Given the description of an element on the screen output the (x, y) to click on. 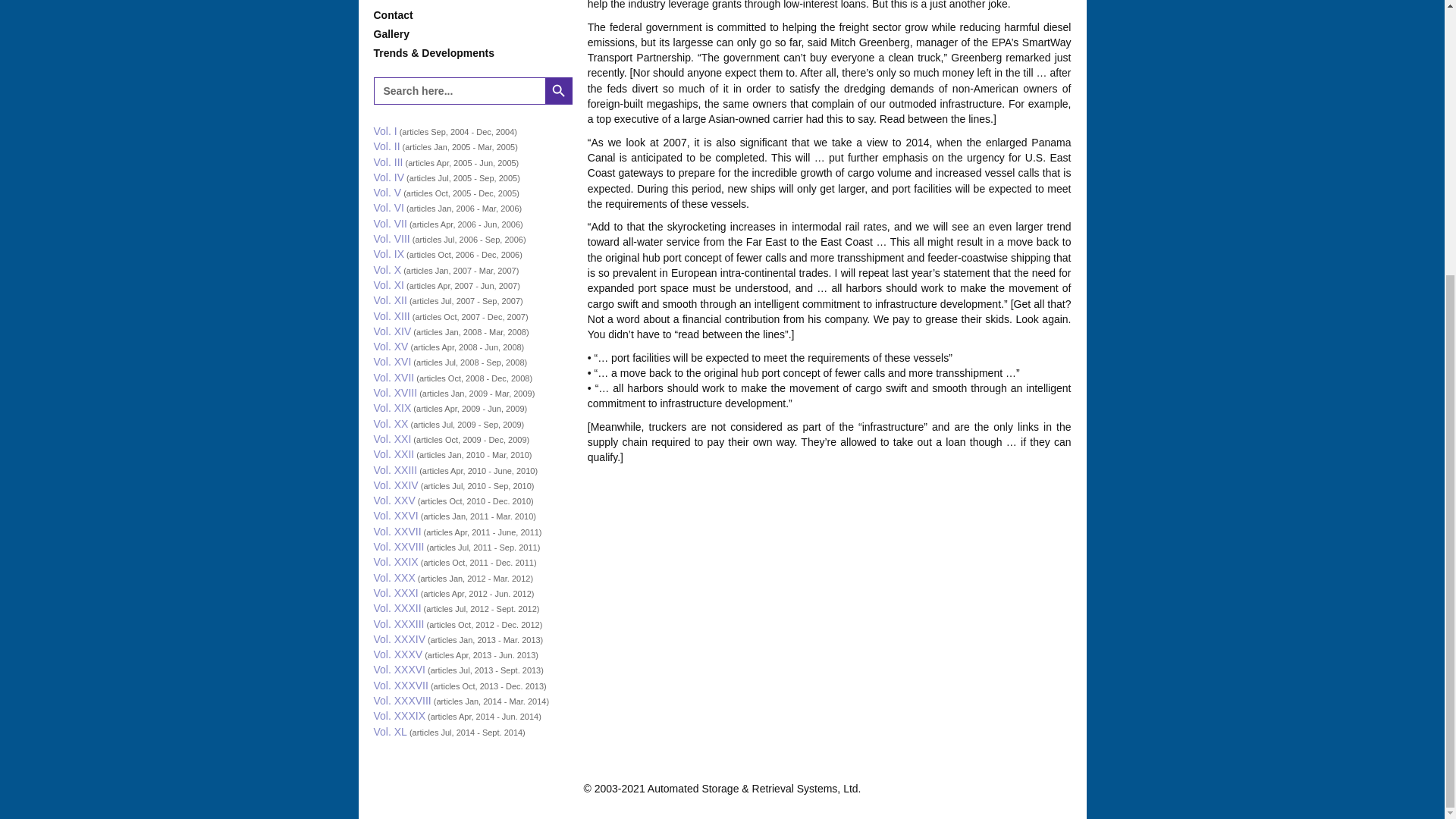
Vol. VIII (390, 238)
Vol. III (387, 162)
Vol. IX (387, 254)
Vol. XI (387, 285)
Vol. XVIII (394, 392)
Vol. IV (387, 177)
Vol. I (384, 131)
Vol. XVII (392, 377)
Vol. XX (389, 423)
Vol. XIV (391, 331)
Vol. XIII (390, 316)
Vol. XVI (391, 361)
Vol. XXIII (394, 469)
Vol. II (385, 146)
Vol. XXII (392, 453)
